Given the description of an element on the screen output the (x, y) to click on. 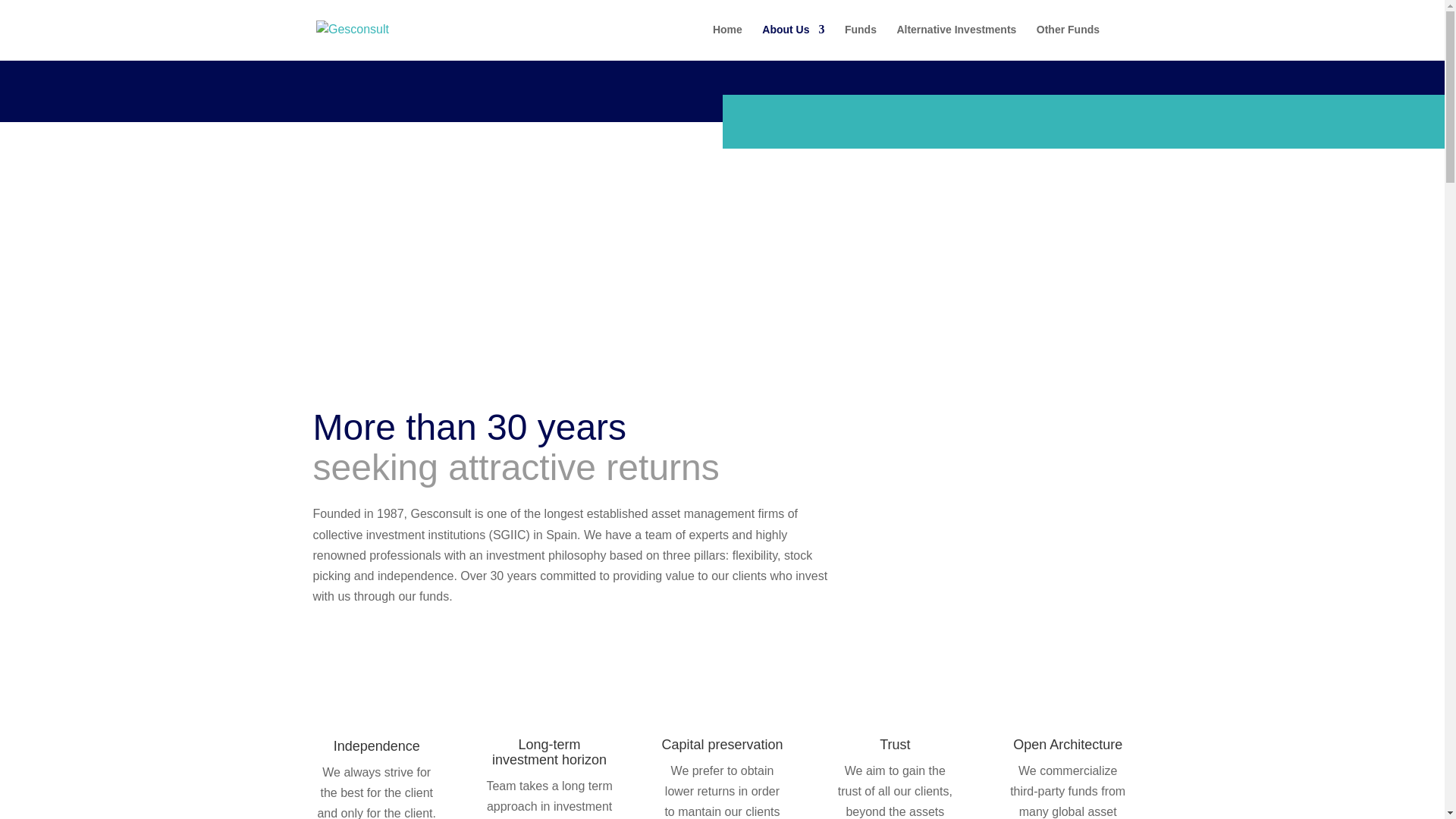
Other Funds (1067, 41)
Funds (860, 41)
Home (727, 41)
Alternative Investments (956, 41)
About Us (792, 41)
